Given the description of an element on the screen output the (x, y) to click on. 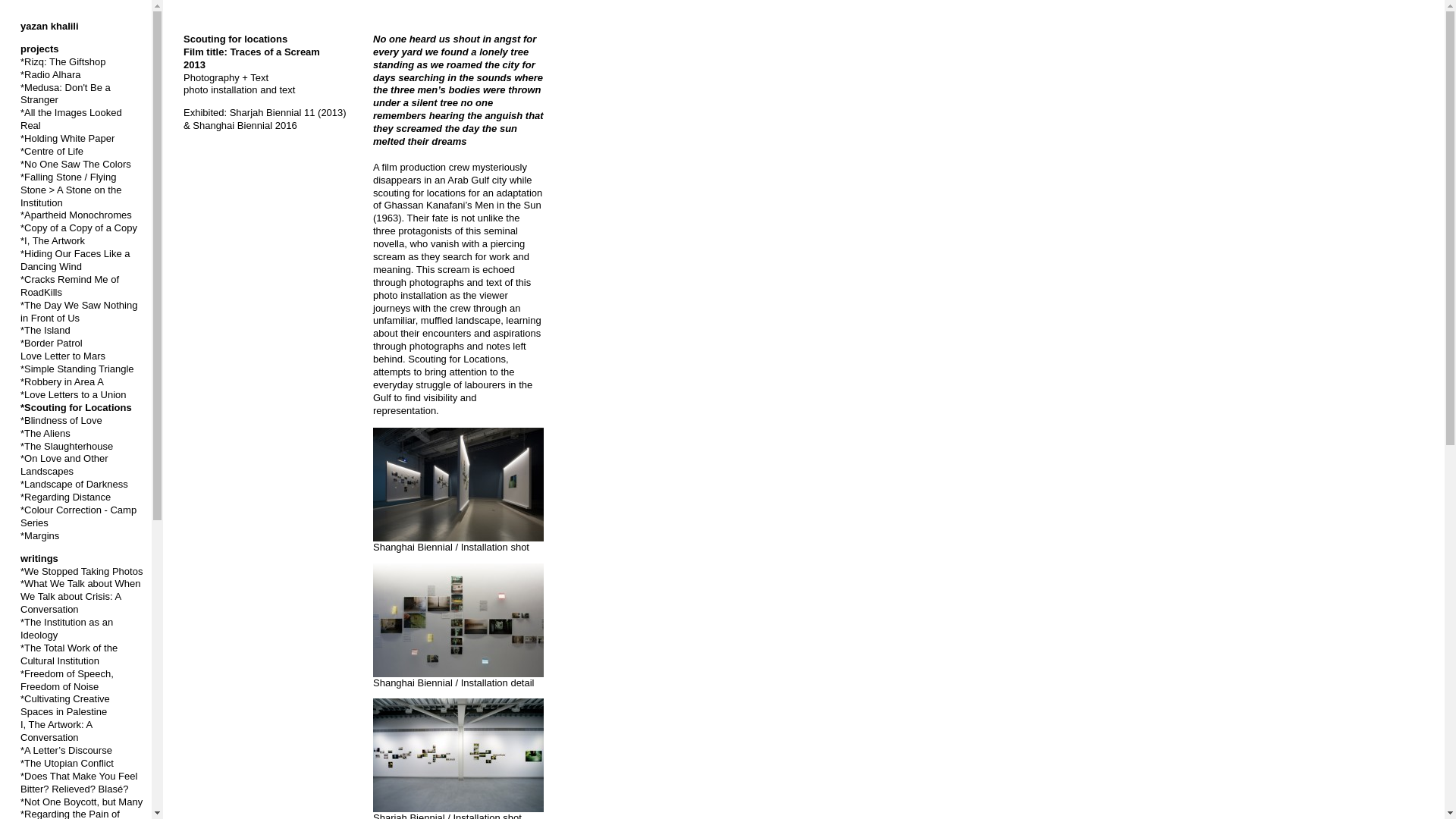
I, The Artwork: A Conversation (55, 730)
Love Letter to Mars (62, 355)
yazan khalili (49, 25)
yazan khalili (49, 25)
